Given the description of an element on the screen output the (x, y) to click on. 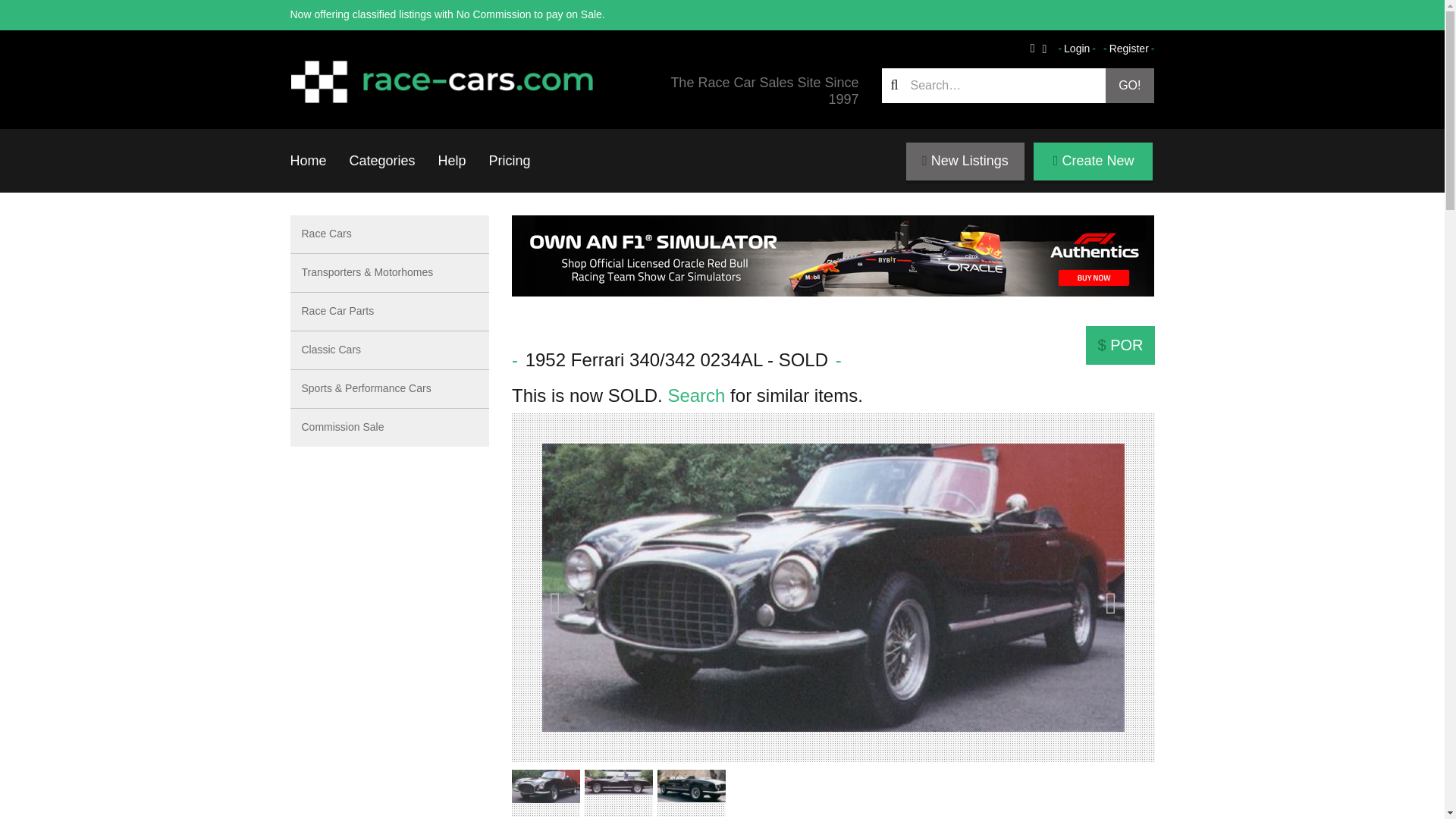
Create New (1093, 161)
Commission Sale (389, 427)
Search (695, 394)
Home (308, 160)
GO! (1129, 85)
Own an F1 Simulator  (833, 255)
Race Cars (389, 234)
Login (1077, 48)
Race Car Parts (389, 311)
Categories (381, 160)
Pricing (509, 160)
Register (1128, 48)
New Listings (965, 161)
Classic Cars (389, 350)
